Given the description of an element on the screen output the (x, y) to click on. 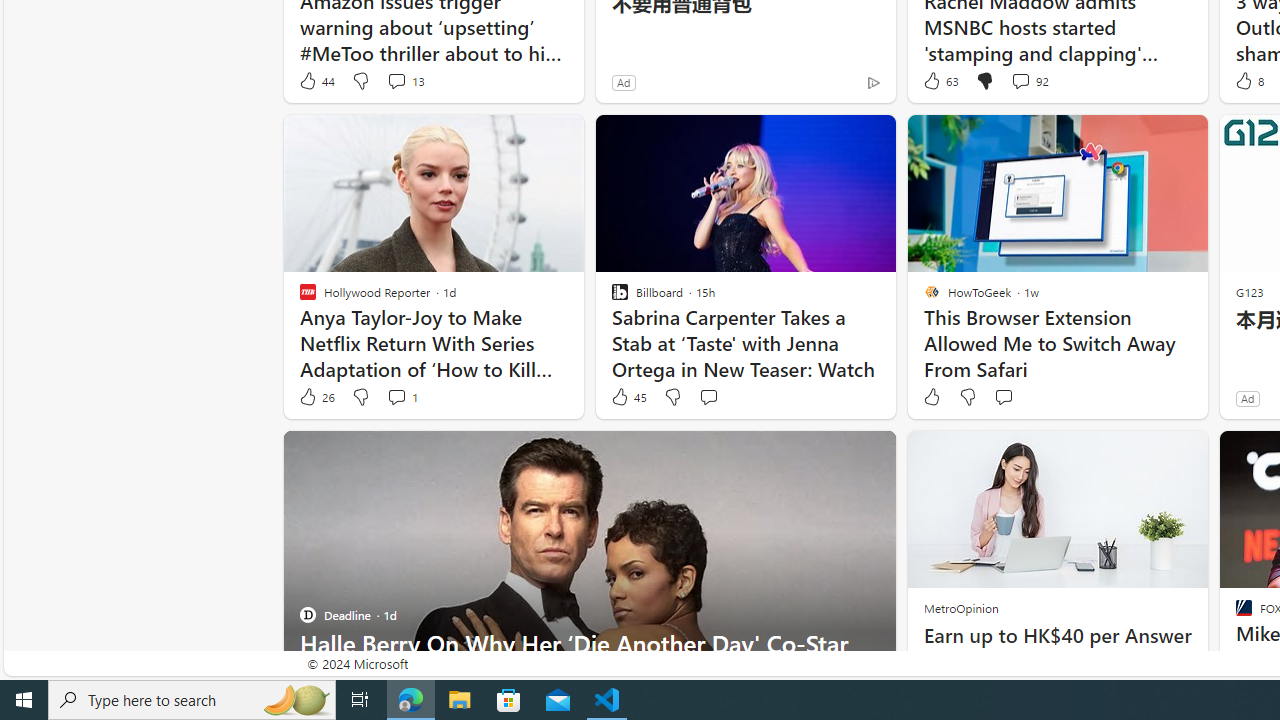
45 Like (628, 397)
View comments 92 Comment (1029, 80)
Hide this story (835, 454)
44 Like (316, 80)
View comments 13 Comment (396, 80)
View comments 92 Comment (1019, 80)
MetroOpinion (960, 607)
63 Like (939, 80)
8 Like (1248, 80)
Earn up to HK$40 per Answer (1056, 636)
G123 (1249, 291)
